Given the description of an element on the screen output the (x, y) to click on. 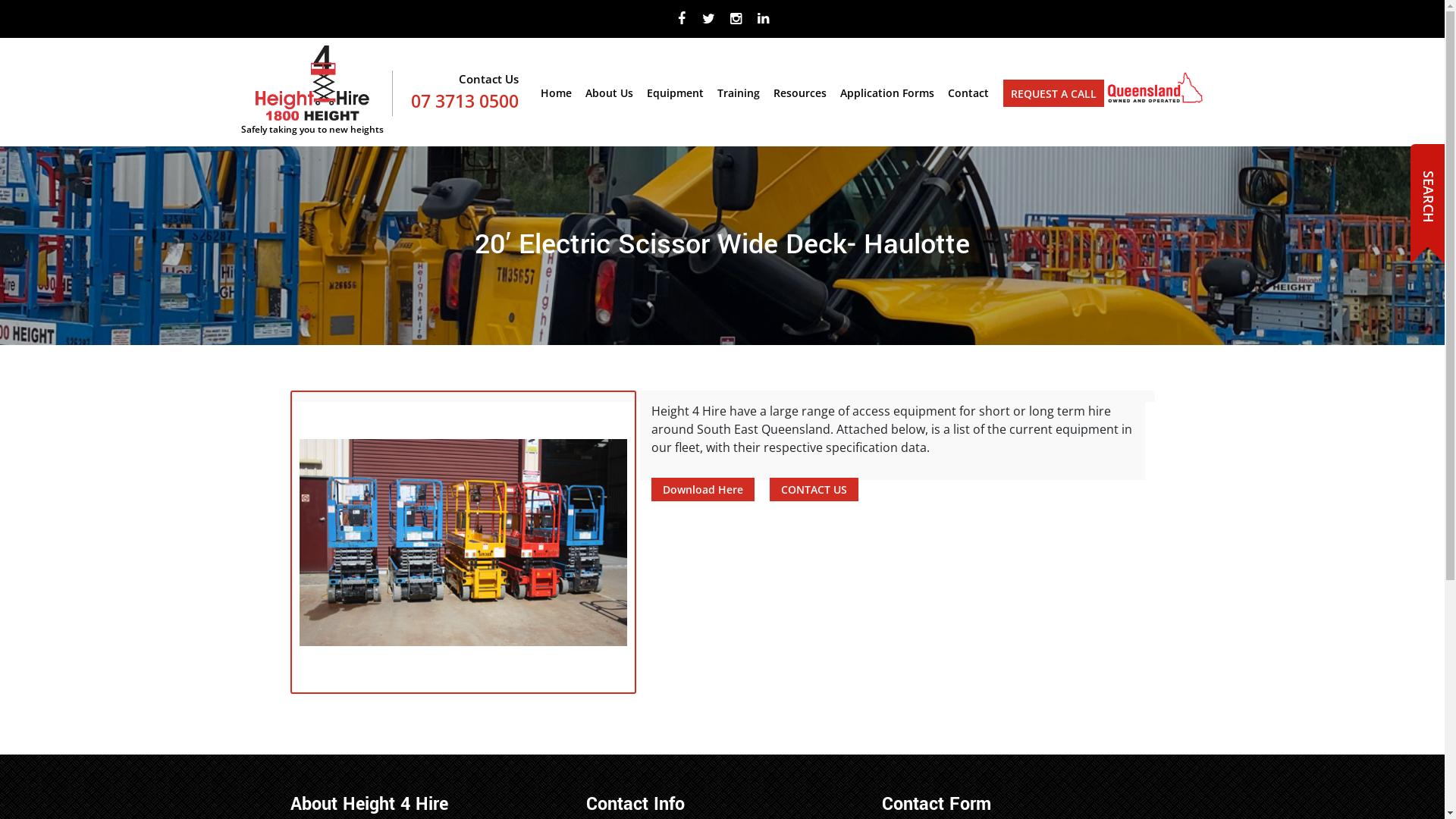
CONTACT US Element type: text (812, 489)
07 3713 0500 Element type: text (464, 100)
SEARCH Element type: text (1435, 180)
Safely taking you to new heights Element type: text (312, 91)
REQUEST A CALL Element type: text (1052, 93)
Download Here Element type: text (701, 489)
Training Element type: text (738, 100)
Equipment Element type: text (674, 100)
Home Element type: text (555, 100)
Contact Element type: text (967, 100)
Resources Element type: text (799, 100)
About Us Element type: text (609, 100)
Application Forms Element type: text (887, 100)
